Given the description of an element on the screen output the (x, y) to click on. 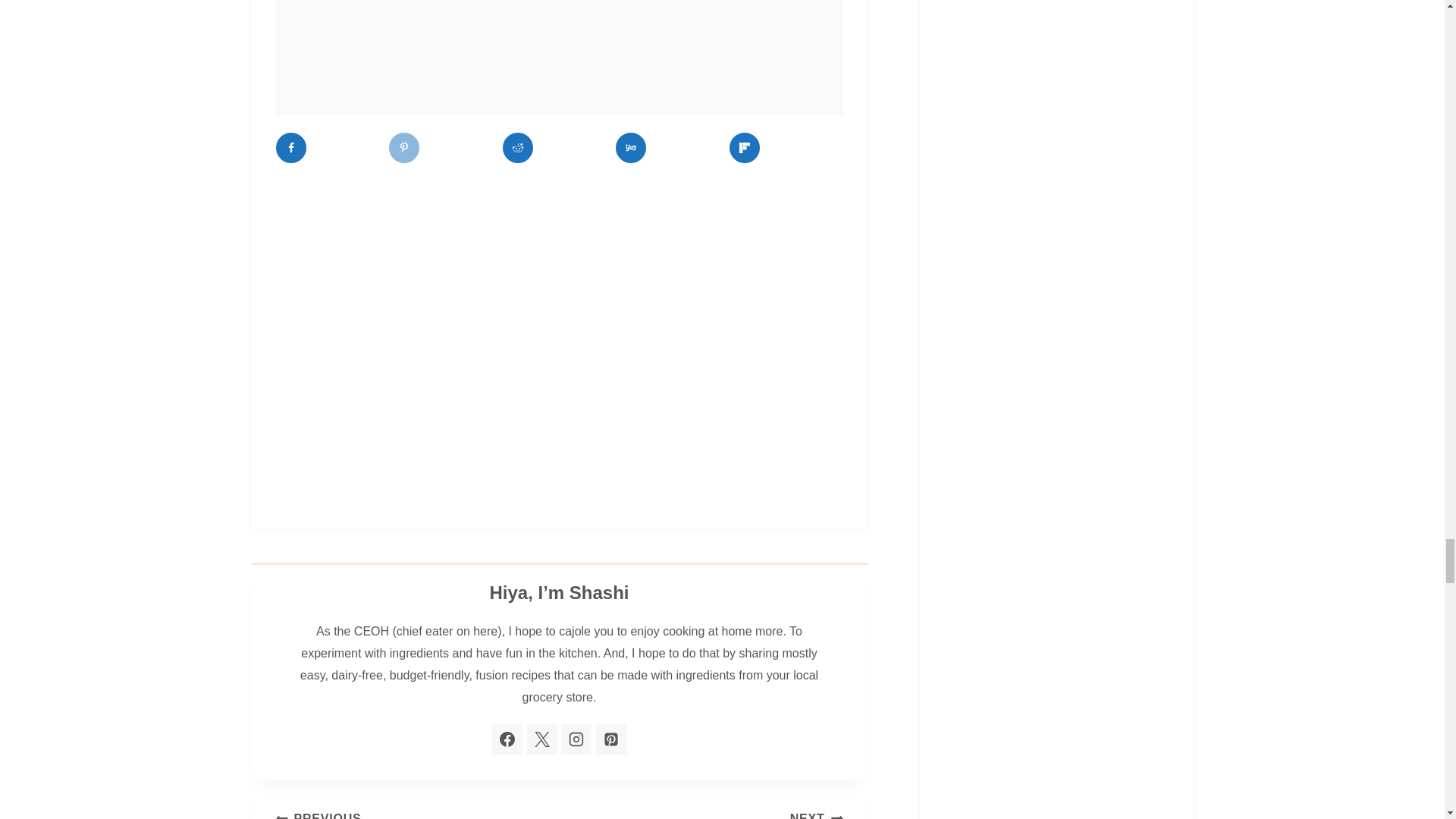
Share on Yummly (630, 147)
Save to Pinterest (403, 147)
Share on Reddit (517, 147)
Share on Flipboard (744, 147)
Share on Facebook (290, 147)
